Given the description of an element on the screen output the (x, y) to click on. 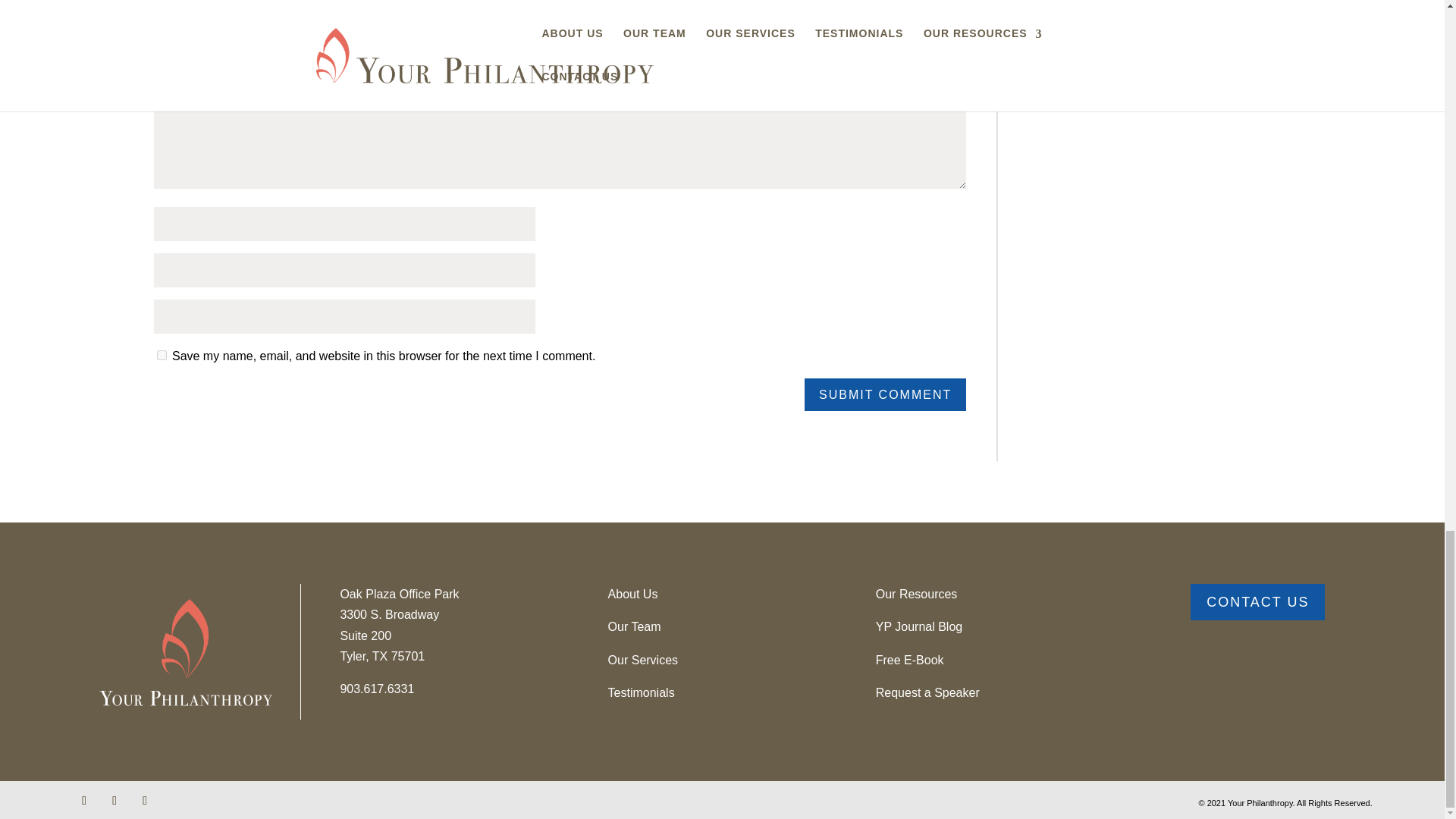
Follow on Facebook (83, 800)
Follow on LinkedIn (144, 800)
Follow on X (113, 800)
yes (160, 355)
SUBMIT COMMENT (885, 394)
